Given the description of an element on the screen output the (x, y) to click on. 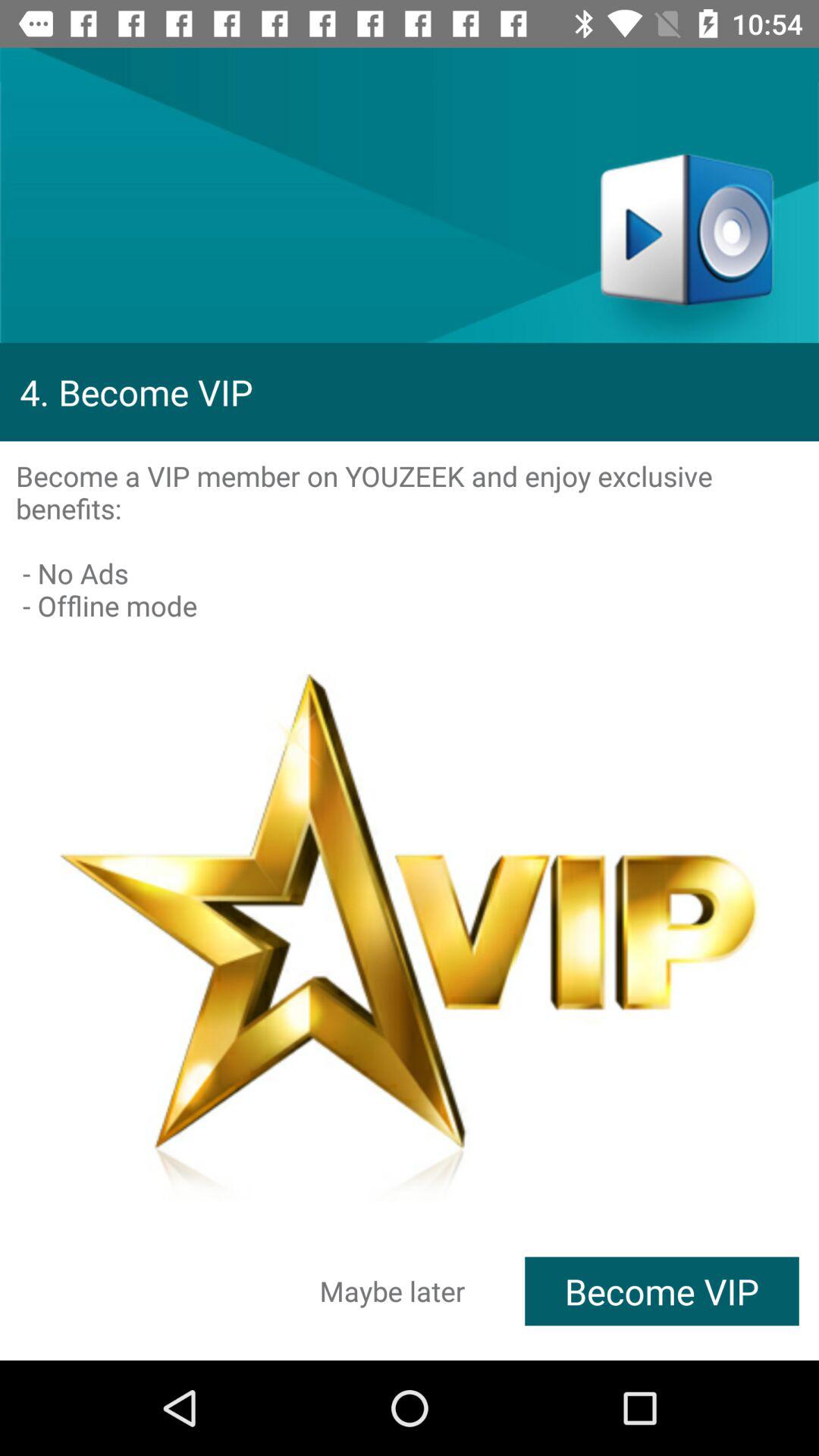
select the maybe later (392, 1291)
